Given the description of an element on the screen output the (x, y) to click on. 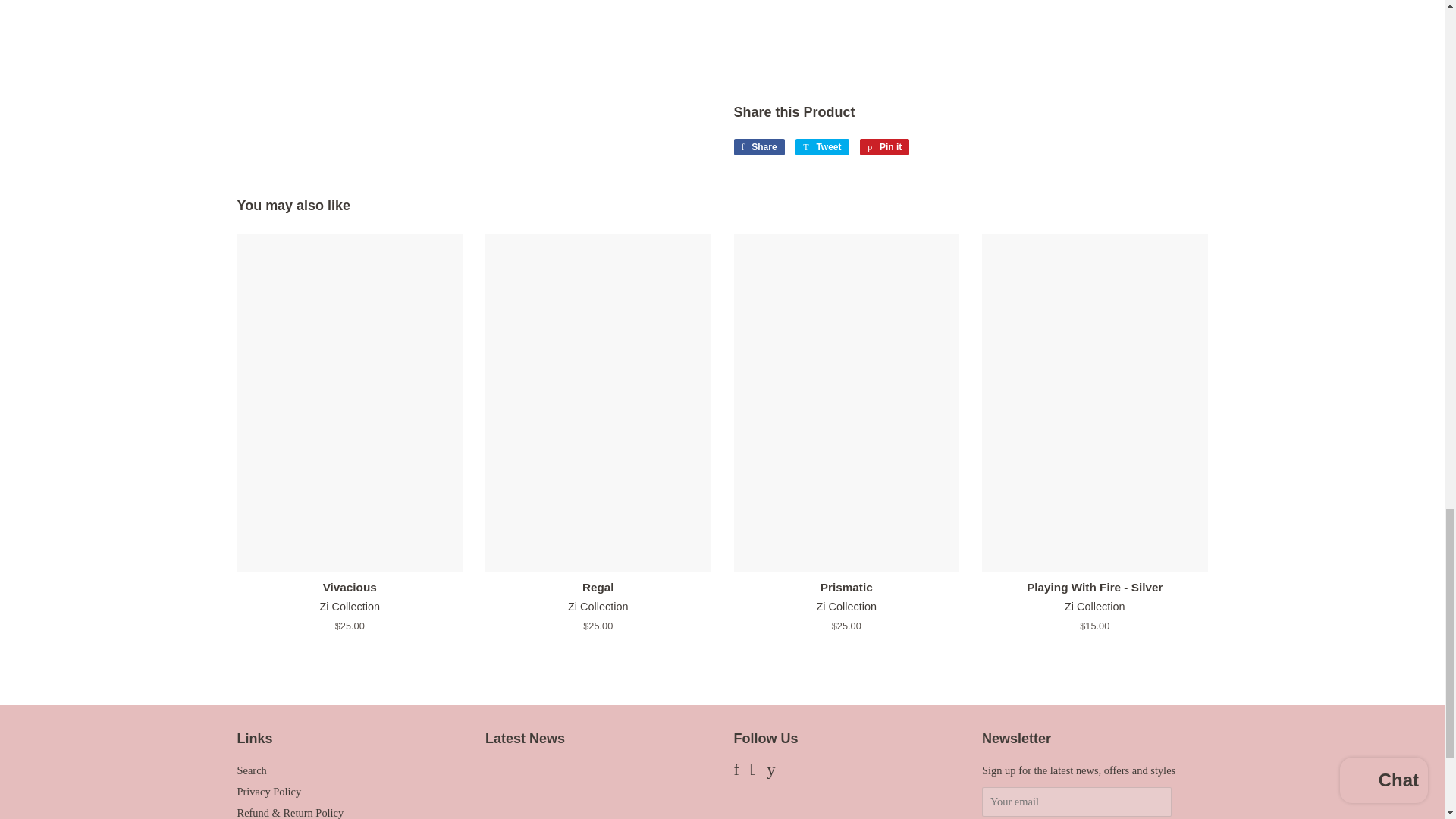
Share on Facebook (758, 146)
Pin on Pinterest (884, 146)
Tweet on Twitter (821, 146)
